Given the description of an element on the screen output the (x, y) to click on. 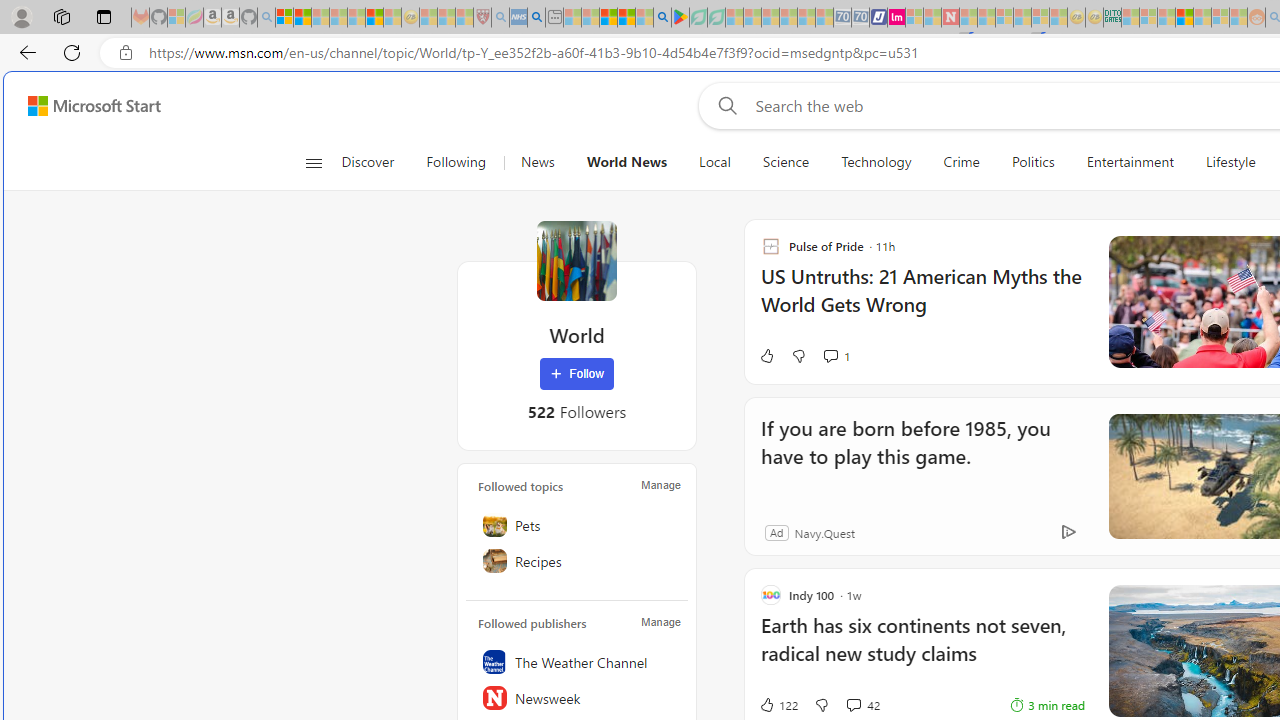
utah sues federal government - Search (536, 17)
